Given the description of an element on the screen output the (x, y) to click on. 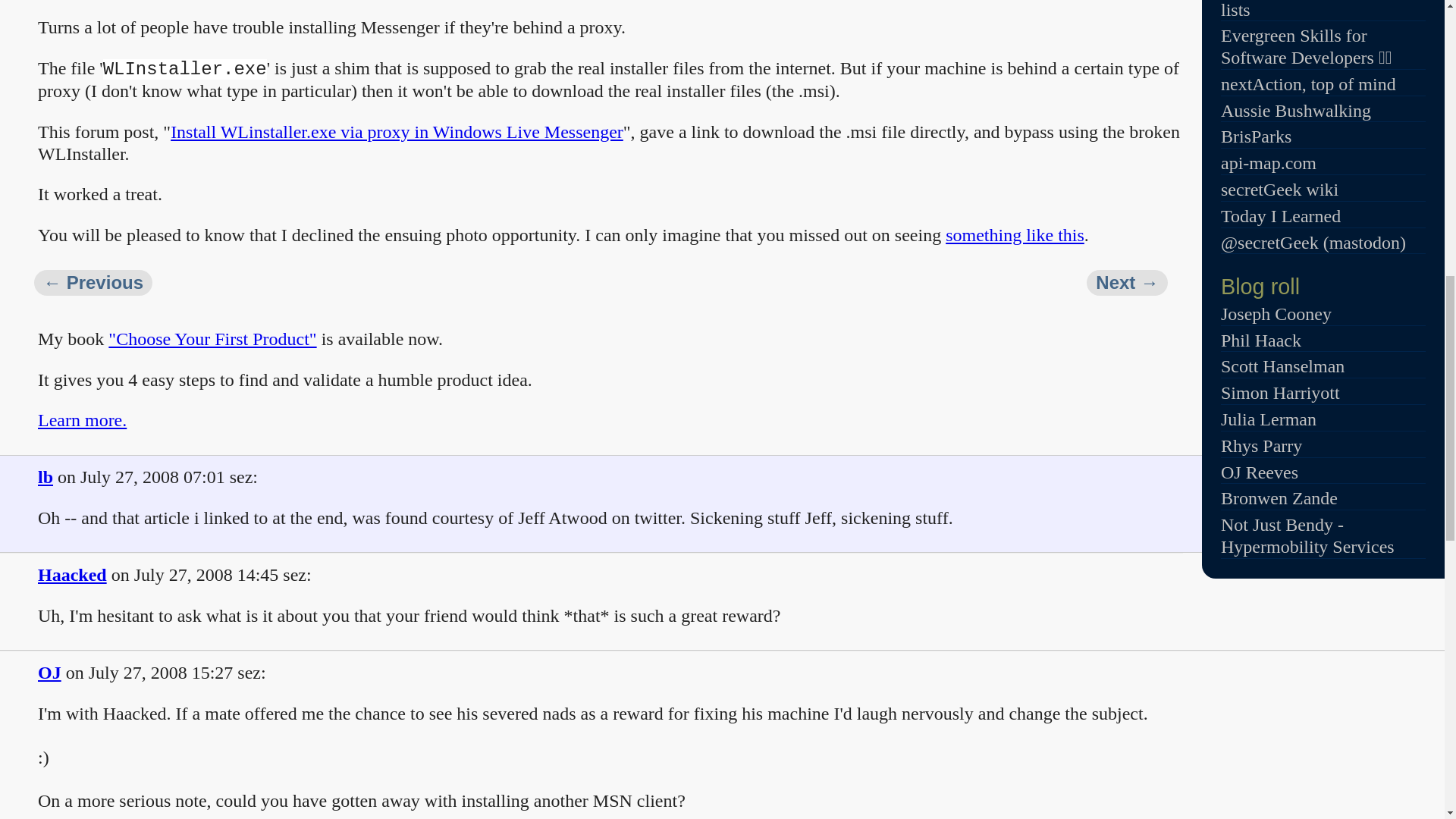
Bronwen Zande (1279, 497)
The Venn Diagram Comparison Tool (1315, 9)
OJ Reeves (1259, 472)
BrisParks (1256, 136)
secretGeek wiki (1279, 189)
api-map.com (1268, 162)
Like Wikipedia but for Bushwalks and Hikes (1296, 110)
Phil Haack (1261, 340)
Find and recommend the best parks in Brisbane (1256, 136)
Web Tablet: Toward Less Complexity (92, 283)
